Given the description of an element on the screen output the (x, y) to click on. 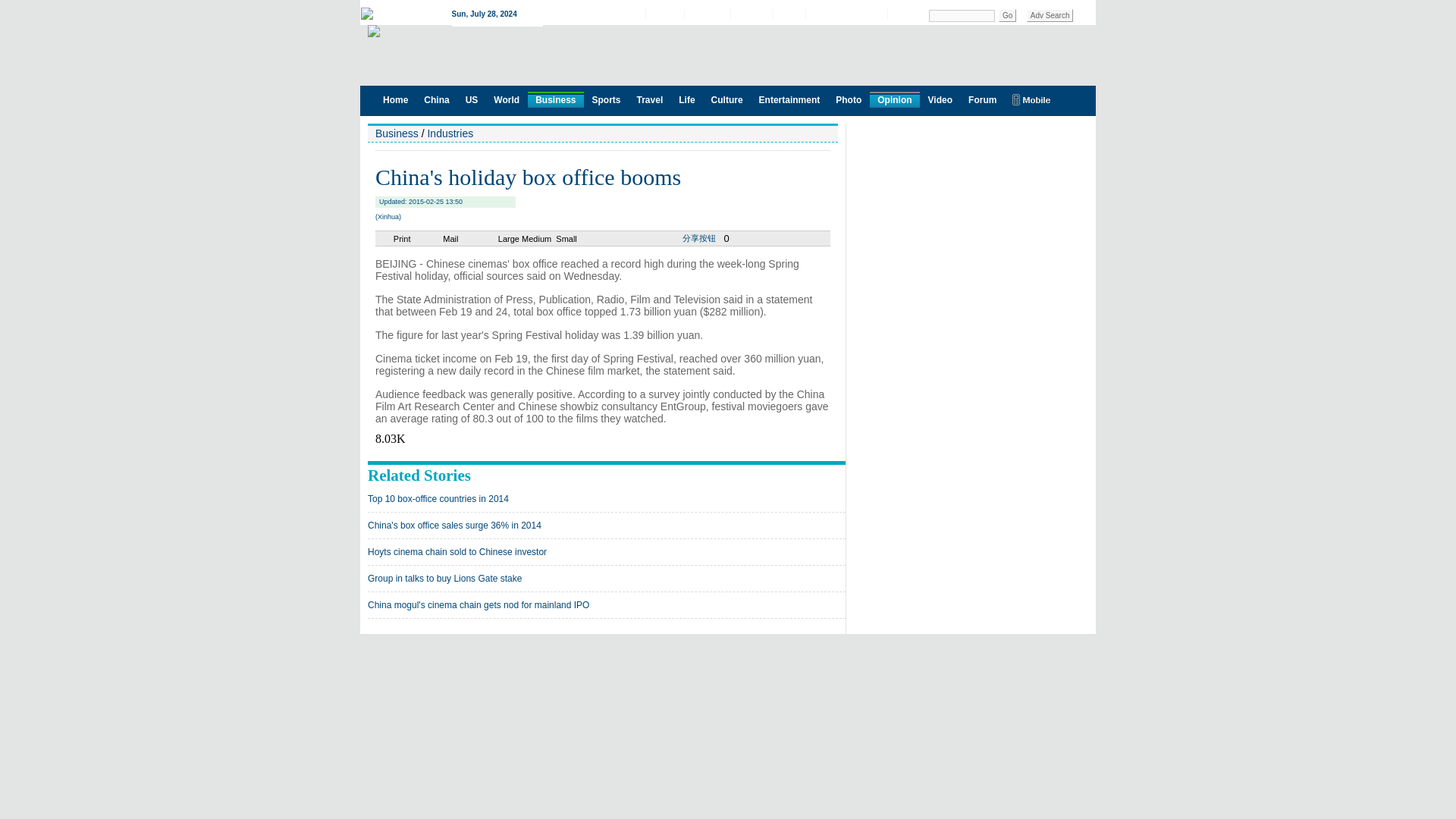
Home (394, 99)
Business (555, 99)
Sports (605, 99)
Travel (649, 99)
World (506, 99)
US (472, 99)
China (436, 99)
